Given the description of an element on the screen output the (x, y) to click on. 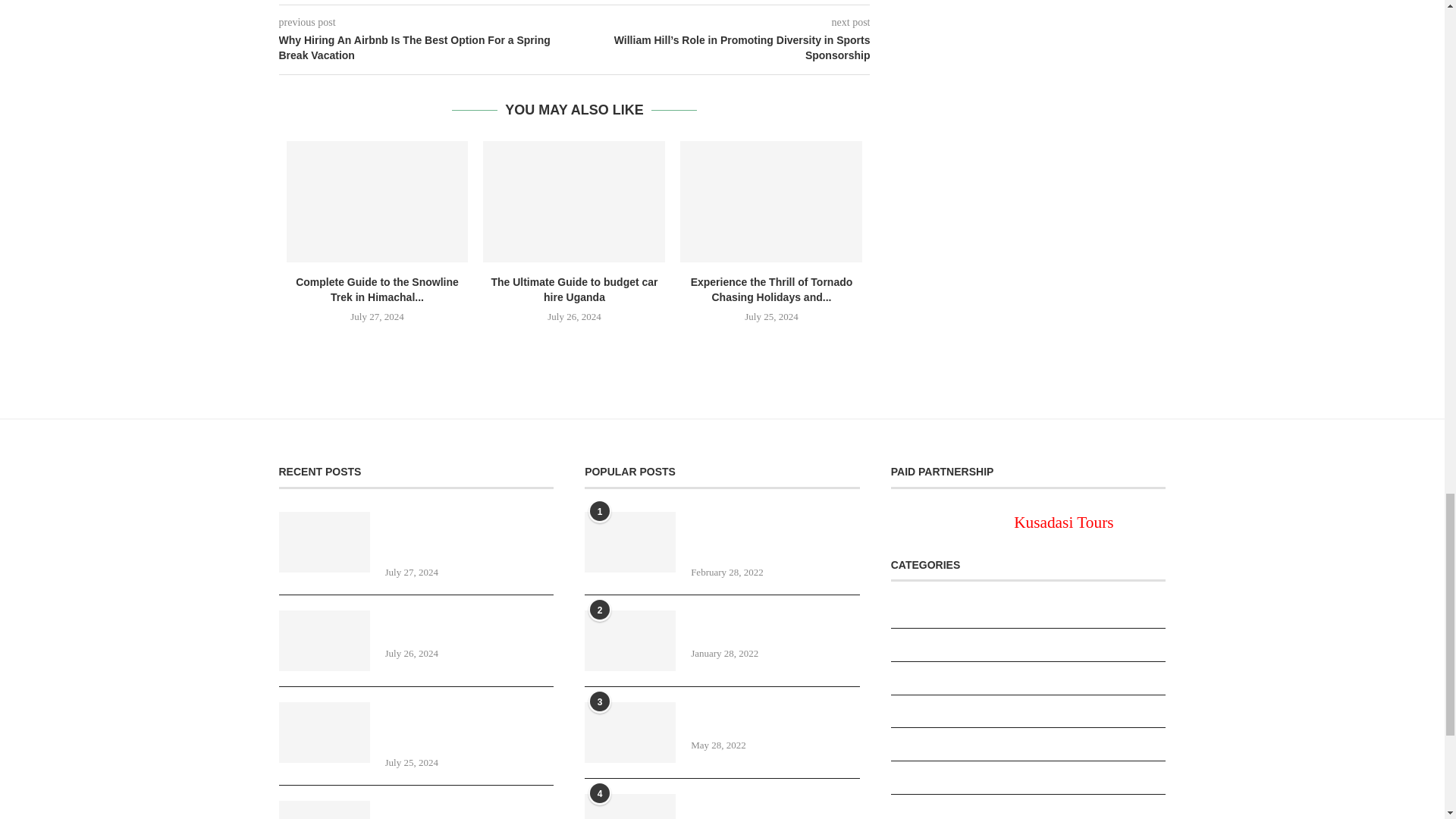
The Ultimate Guide to budget car hire Uganda (574, 201)
Complete Guide to the Snowline Trek in Himachal Pradesh (377, 201)
